Given the description of an element on the screen output the (x, y) to click on. 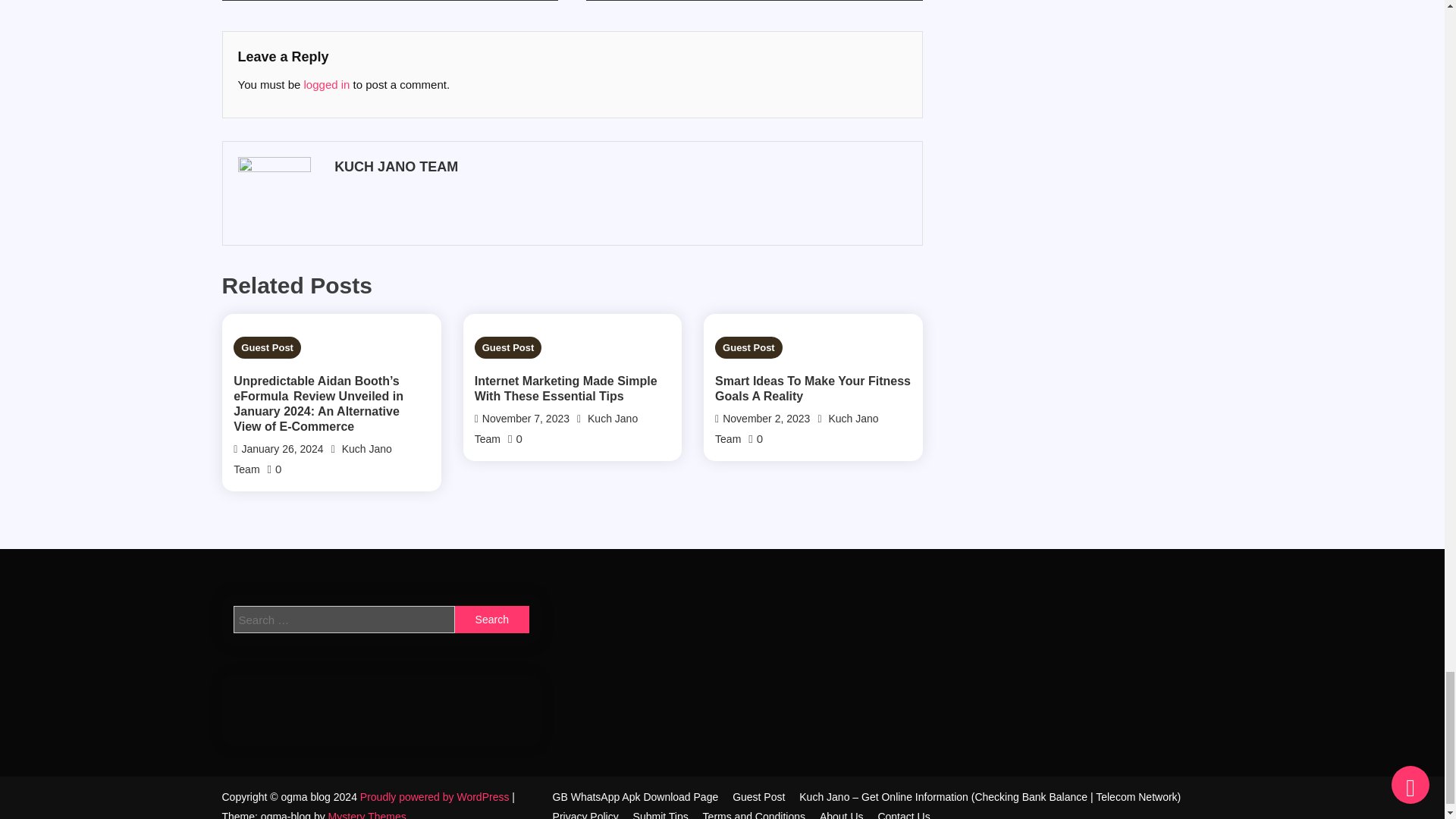
Kuch Jano Team (311, 459)
November 7, 2023 (525, 418)
Guest Post (507, 347)
logged in (327, 83)
January 26, 2024 (282, 449)
Search (491, 619)
Kuch Jano Team (556, 428)
KUCH JANO TEAM (618, 167)
Guest Post (266, 347)
Posts by Kuch Jano Team (618, 167)
Internet Marketing Made Simple With These Essential Tips (572, 388)
Search (491, 619)
